Given the description of an element on the screen output the (x, y) to click on. 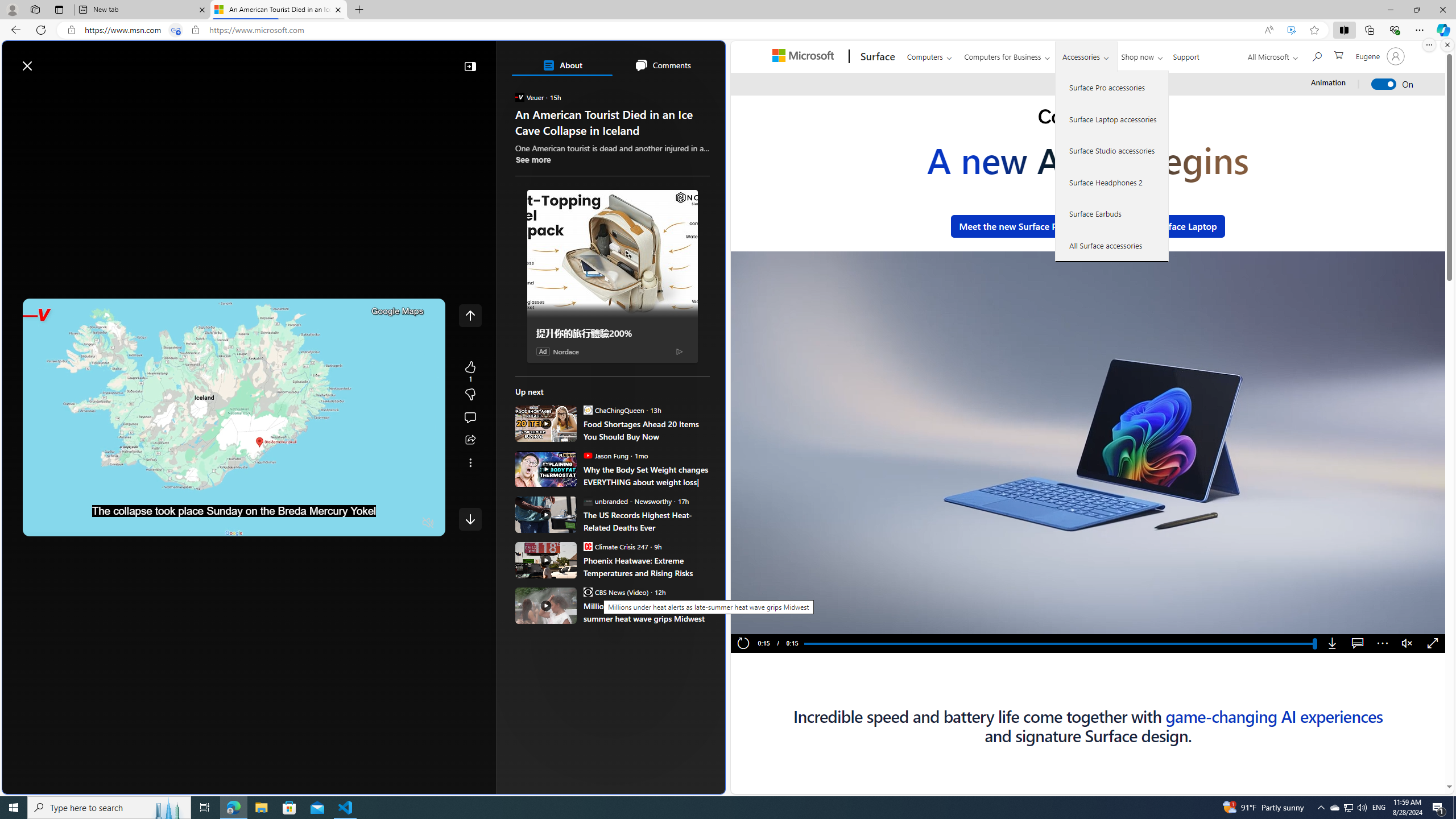
About (561, 64)
Personalize (679, 92)
unbranded - Newsworthy unbranded - Newsworthy (626, 500)
Quality Settings (360, 523)
Microsoft (804, 56)
Surface Laptop accessories (1112, 119)
